Given the description of an element on the screen output the (x, y) to click on. 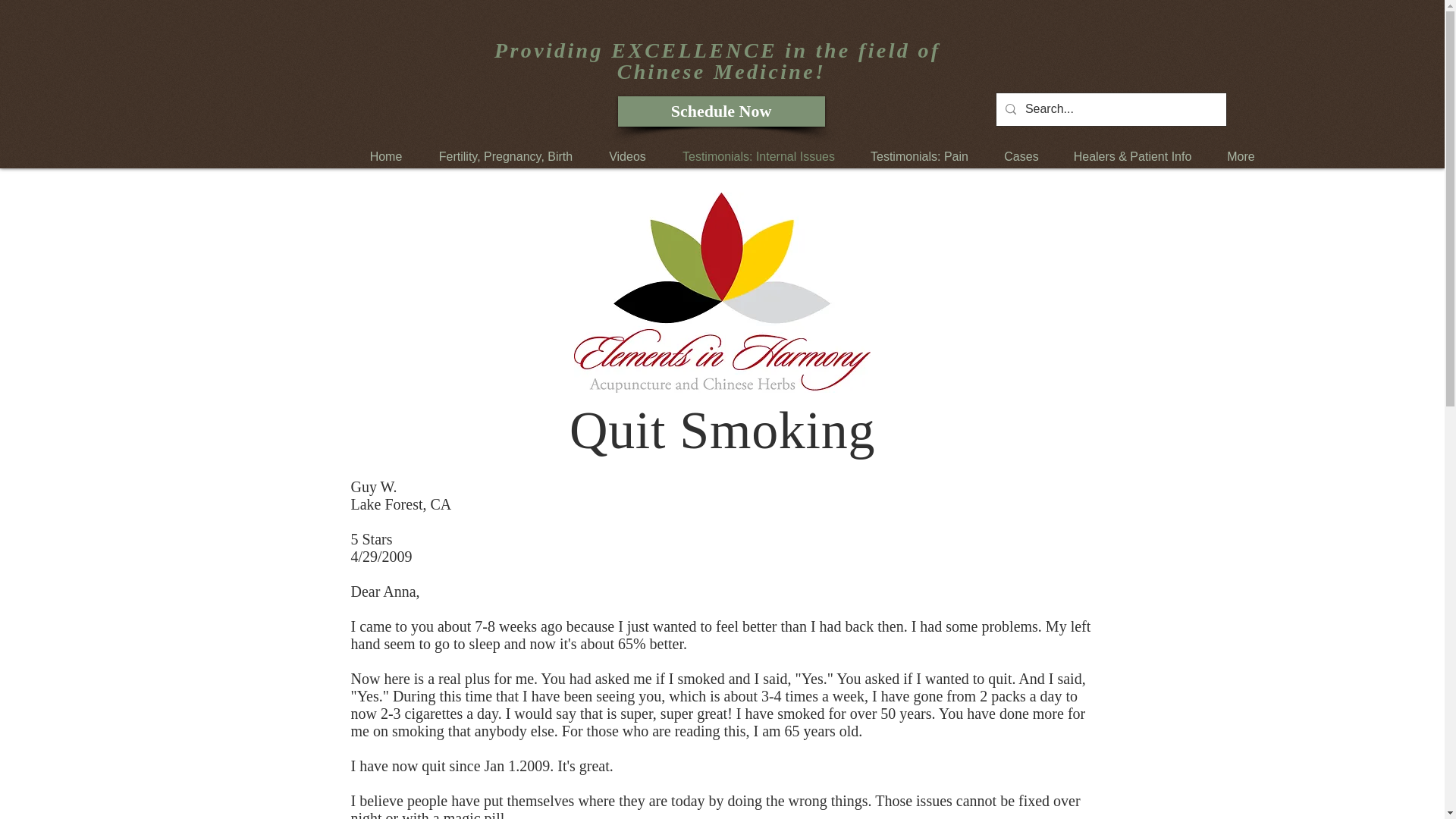
Home (385, 157)
Fertility, Pregnancy, Birth (506, 157)
Schedule Now (720, 111)
